Given the description of an element on the screen output the (x, y) to click on. 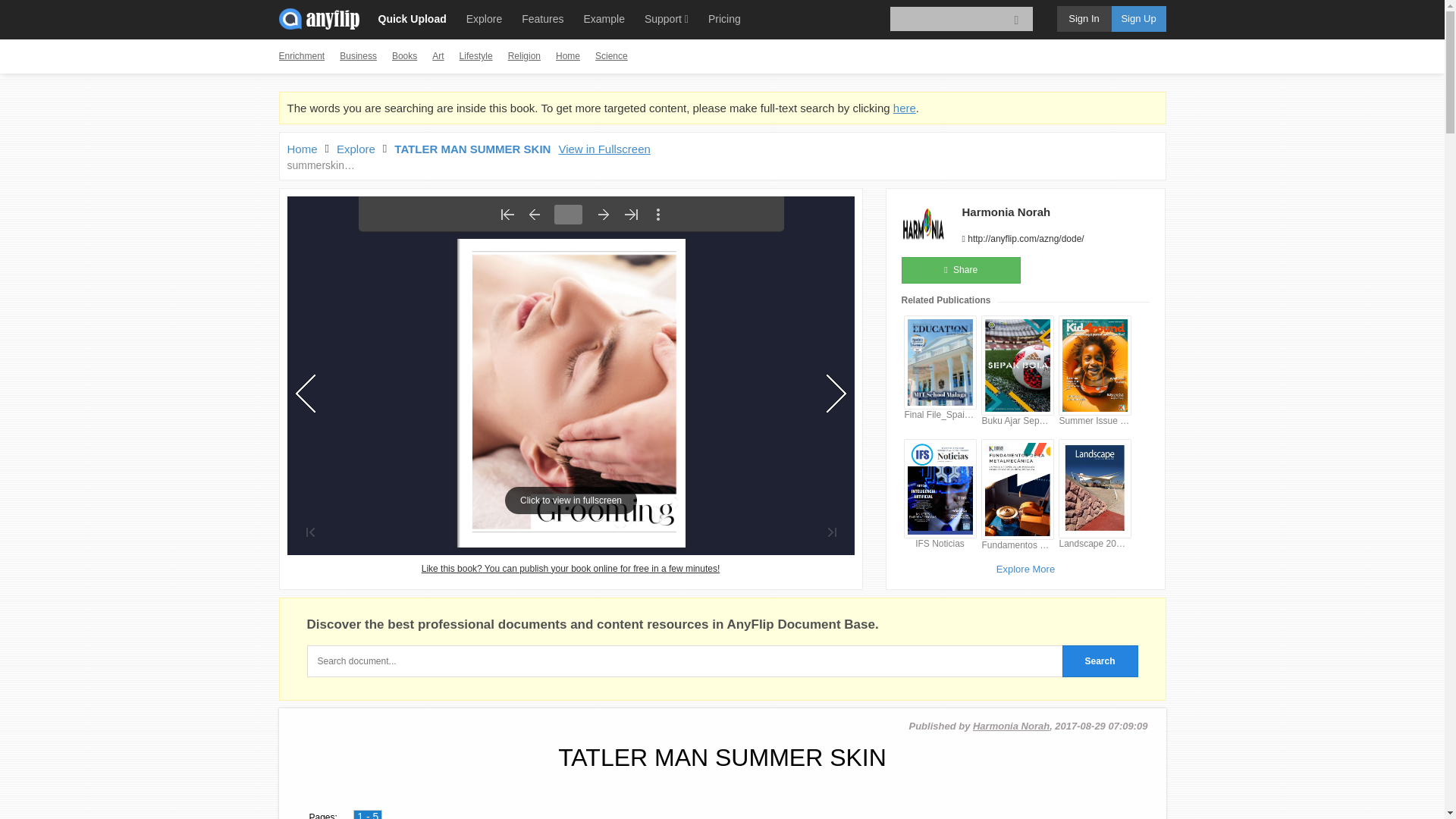
Summer Issue 24 (1093, 420)
Home (301, 148)
IFS Noticias (939, 543)
Books (403, 55)
Science (611, 55)
Harmonia Norah (1004, 211)
TATLER MAN SUMMER SKIN (472, 148)
Pricing (724, 18)
Business (358, 55)
